Given the description of an element on the screen output the (x, y) to click on. 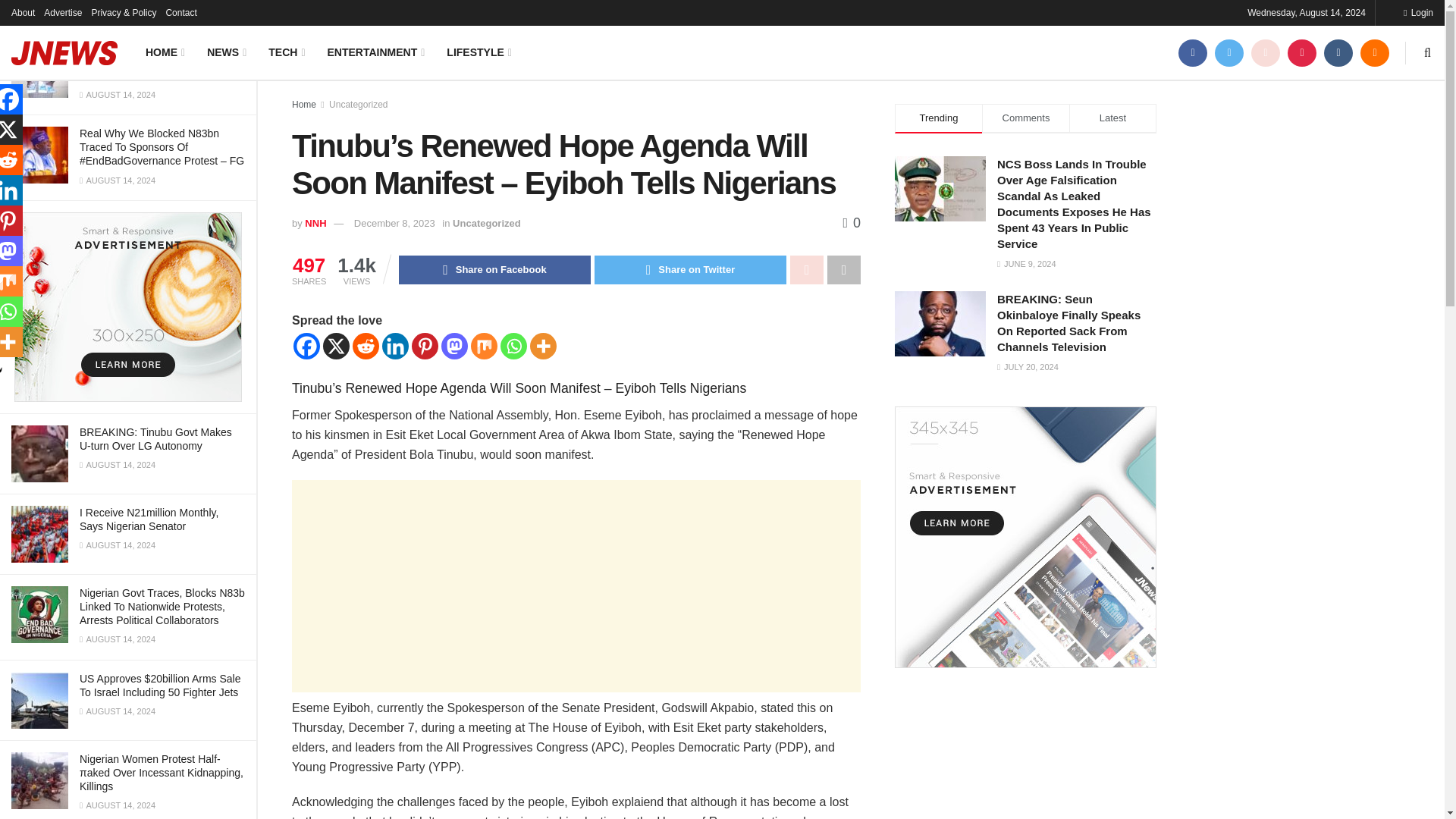
X (336, 345)
Advertise (62, 12)
Facebook (307, 345)
Pinterest (425, 345)
Advertisement (576, 585)
Linkedin (395, 345)
Mix (483, 345)
Whatsapp (513, 345)
